Given the description of an element on the screen output the (x, y) to click on. 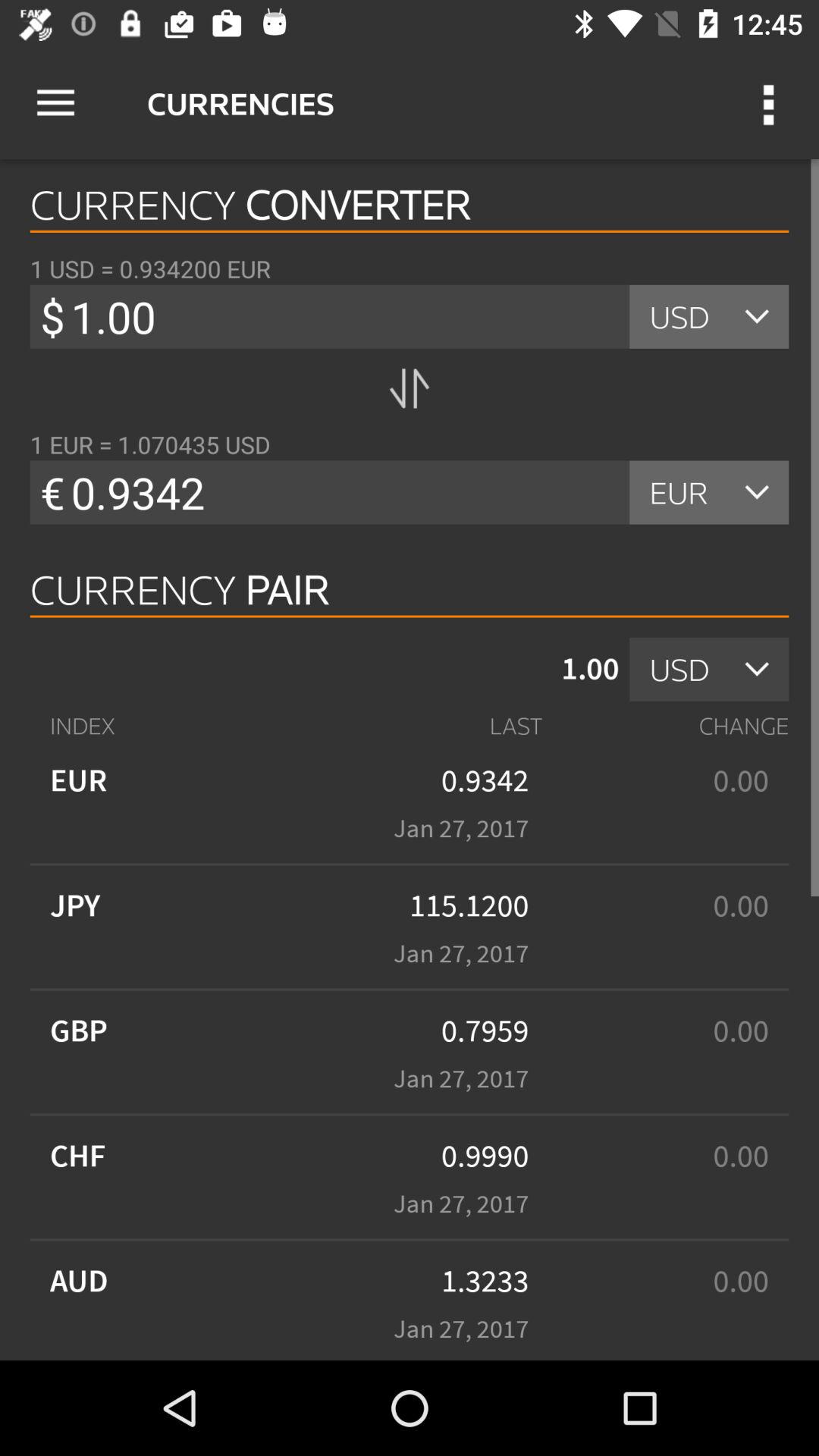
press the item to the left of currencies (55, 103)
